Given the description of an element on the screen output the (x, y) to click on. 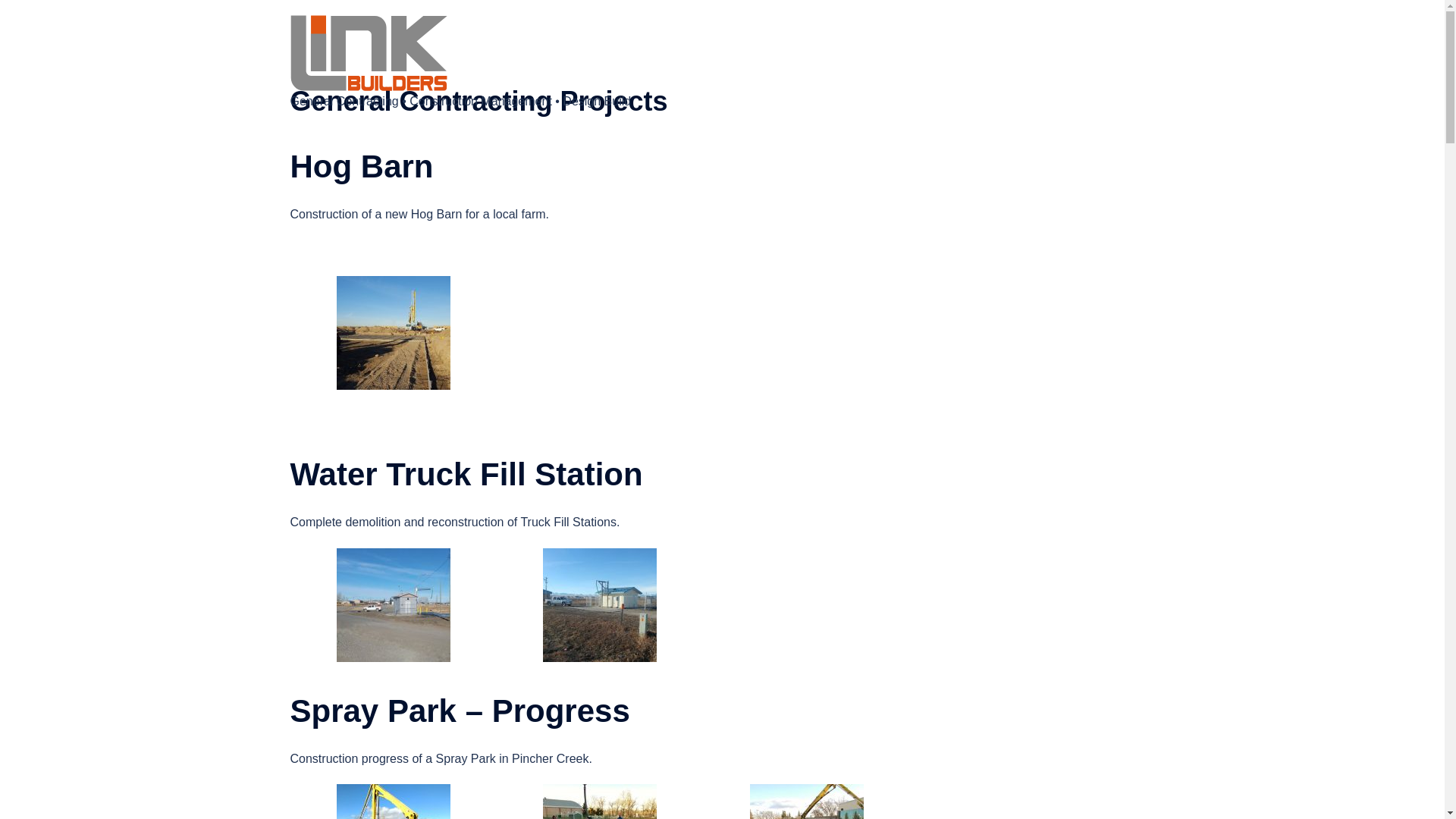
Contact Us (1116, 63)
Safety (1055, 63)
General Contracting Projects (999, 63)
Projects (999, 63)
Link Builders (367, 51)
